Given the description of an element on the screen output the (x, y) to click on. 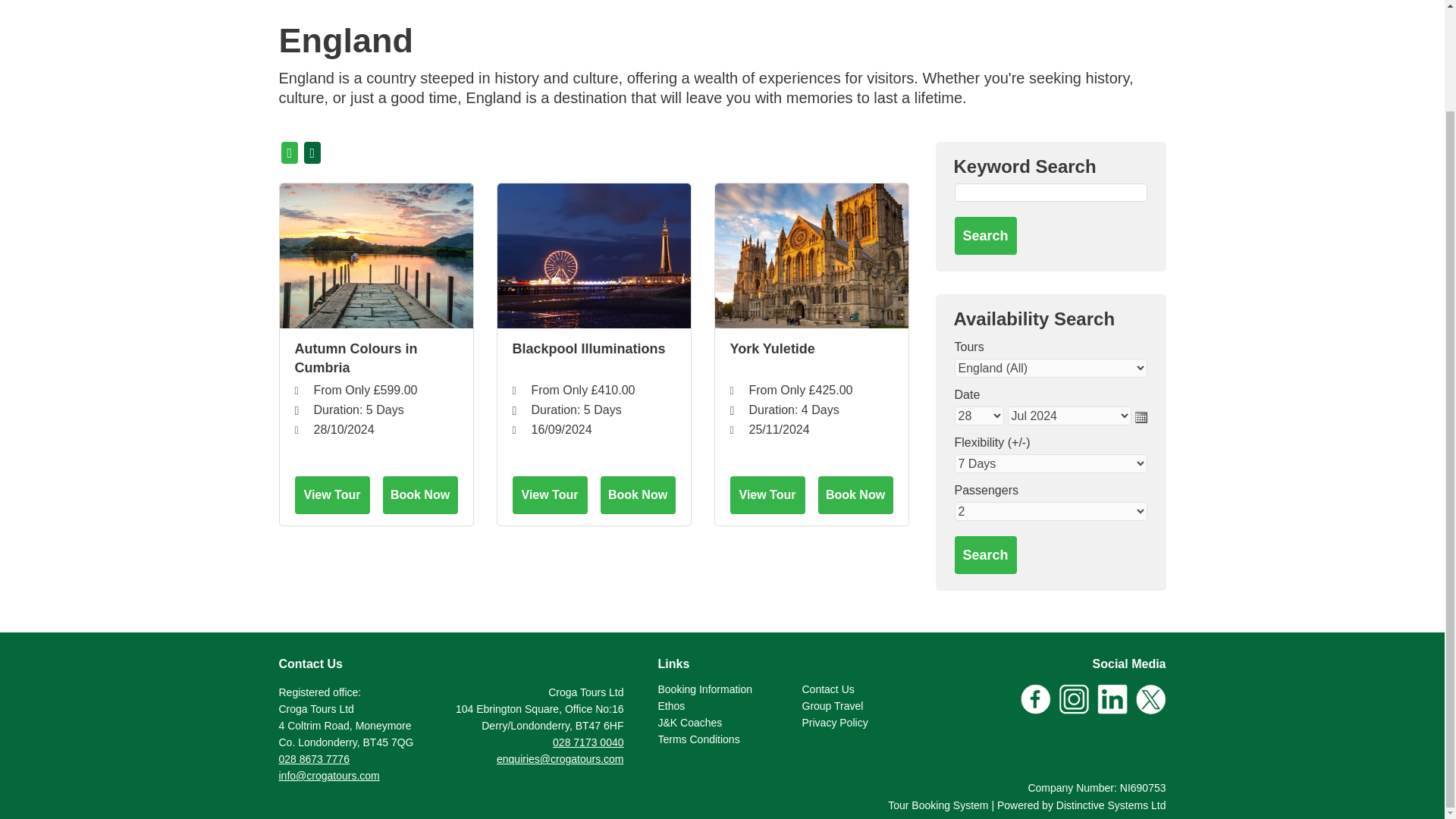
Autumn Colours in Cumbria (375, 255)
York Yuletide (810, 255)
Autumn Colours in Cumbria (375, 358)
York Yuletide (810, 358)
Blackpool Illuminations (593, 255)
Blackpool Illuminations (593, 358)
Search (984, 555)
Search (984, 235)
Booking Information (705, 689)
Search (984, 555)
Search (984, 235)
